Given the description of an element on the screen output the (x, y) to click on. 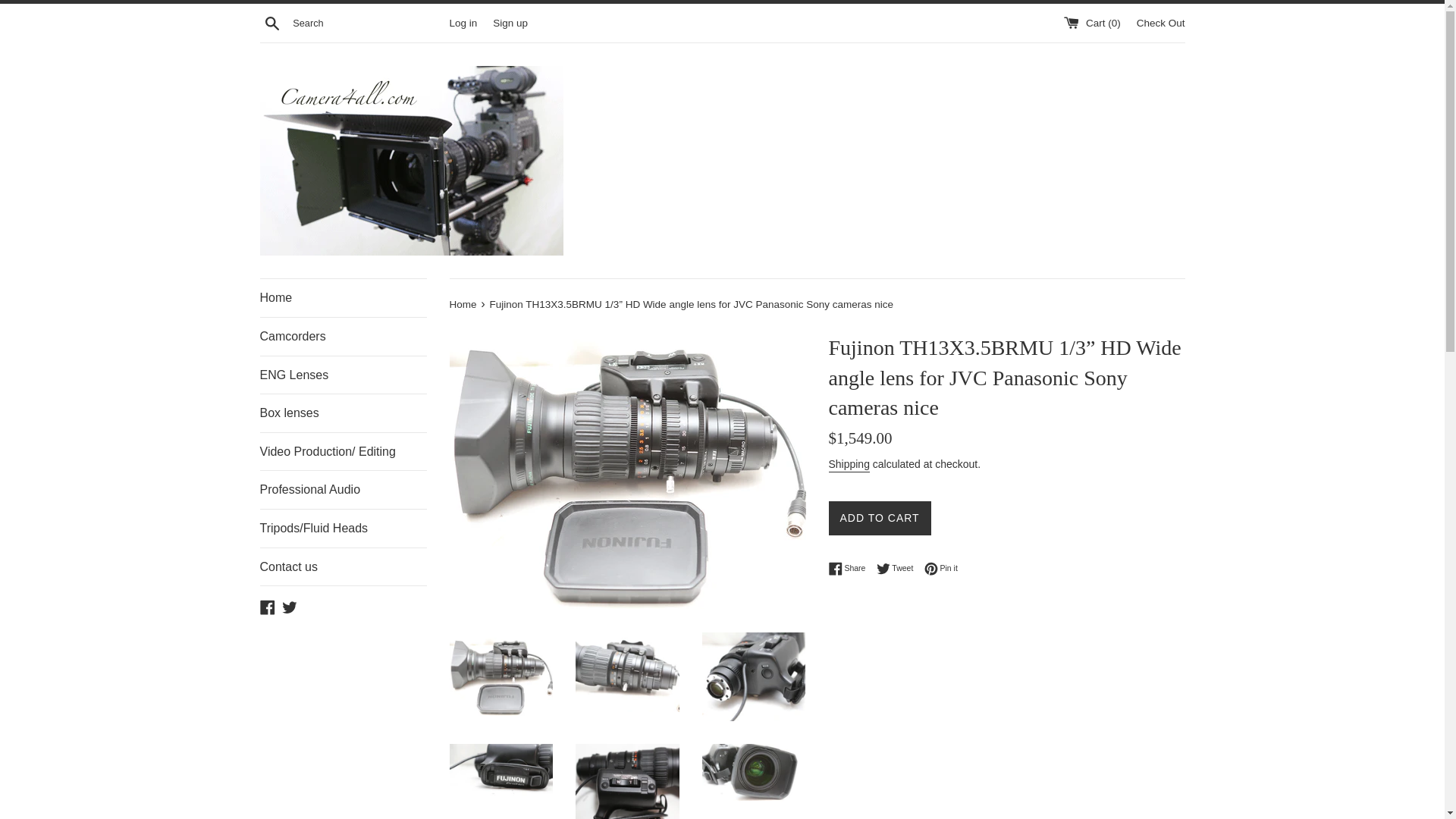
Facebook (267, 605)
Log in (462, 21)
Camcorders (941, 568)
Tweet on Twitter (342, 336)
Contact us (898, 568)
Home (342, 566)
Box lenses (463, 304)
Search (342, 412)
ADD TO CART (898, 568)
Shipping (271, 21)
Pin on Pinterest (879, 518)
ENG Lenses (848, 464)
Twitter (941, 568)
